Given the description of an element on the screen output the (x, y) to click on. 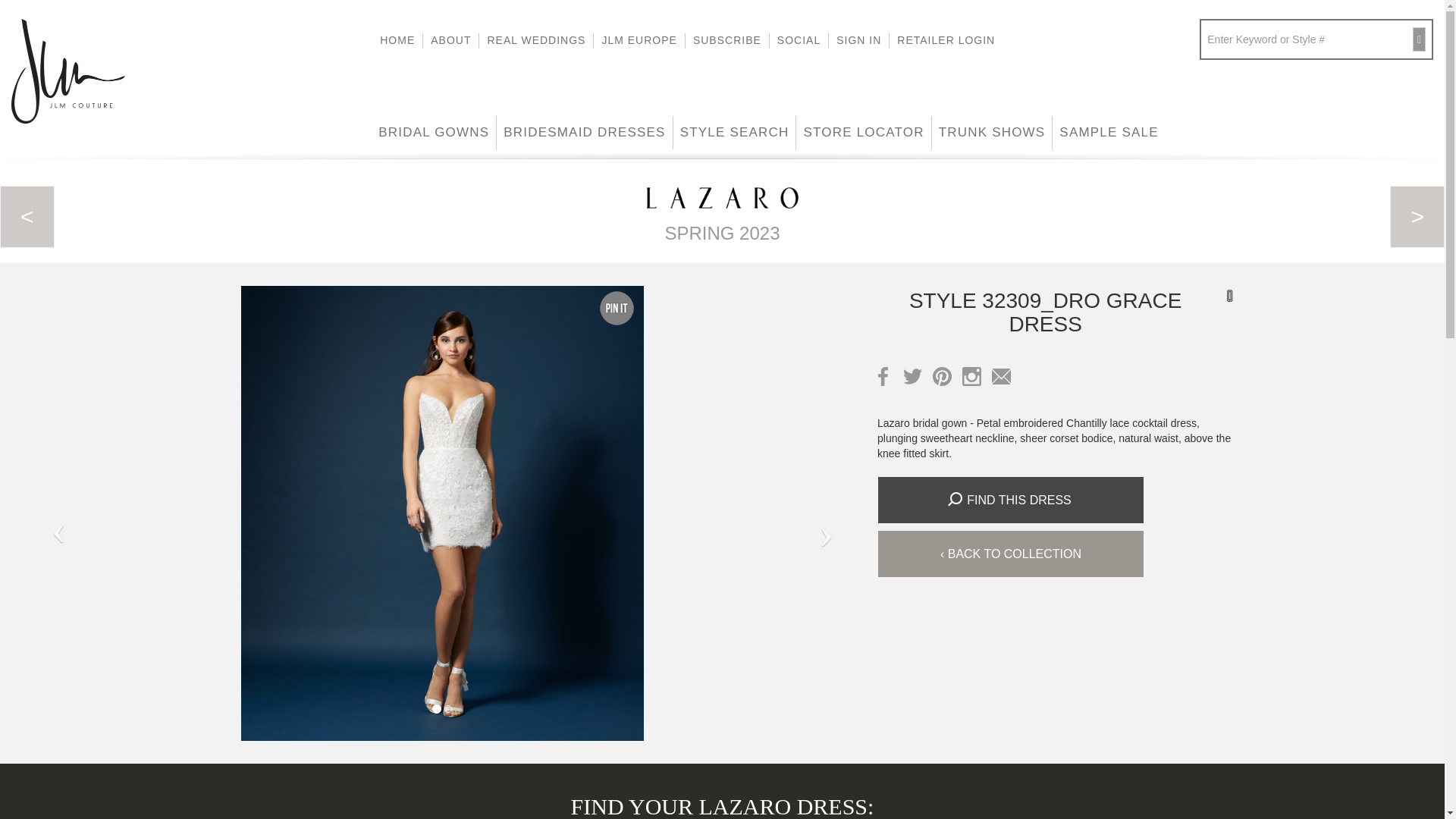
BRIDESMAID DRESSES (584, 132)
Enter the terms you wish to search for. (1310, 39)
SOCIAL (799, 40)
Lazaro Back Logo (721, 197)
REAL WEDDINGS (536, 40)
SUBSCRIBE (727, 40)
JLM EUROPE (639, 40)
SIGN IN (858, 40)
TRUNK SHOWS (991, 132)
